Given the description of an element on the screen output the (x, y) to click on. 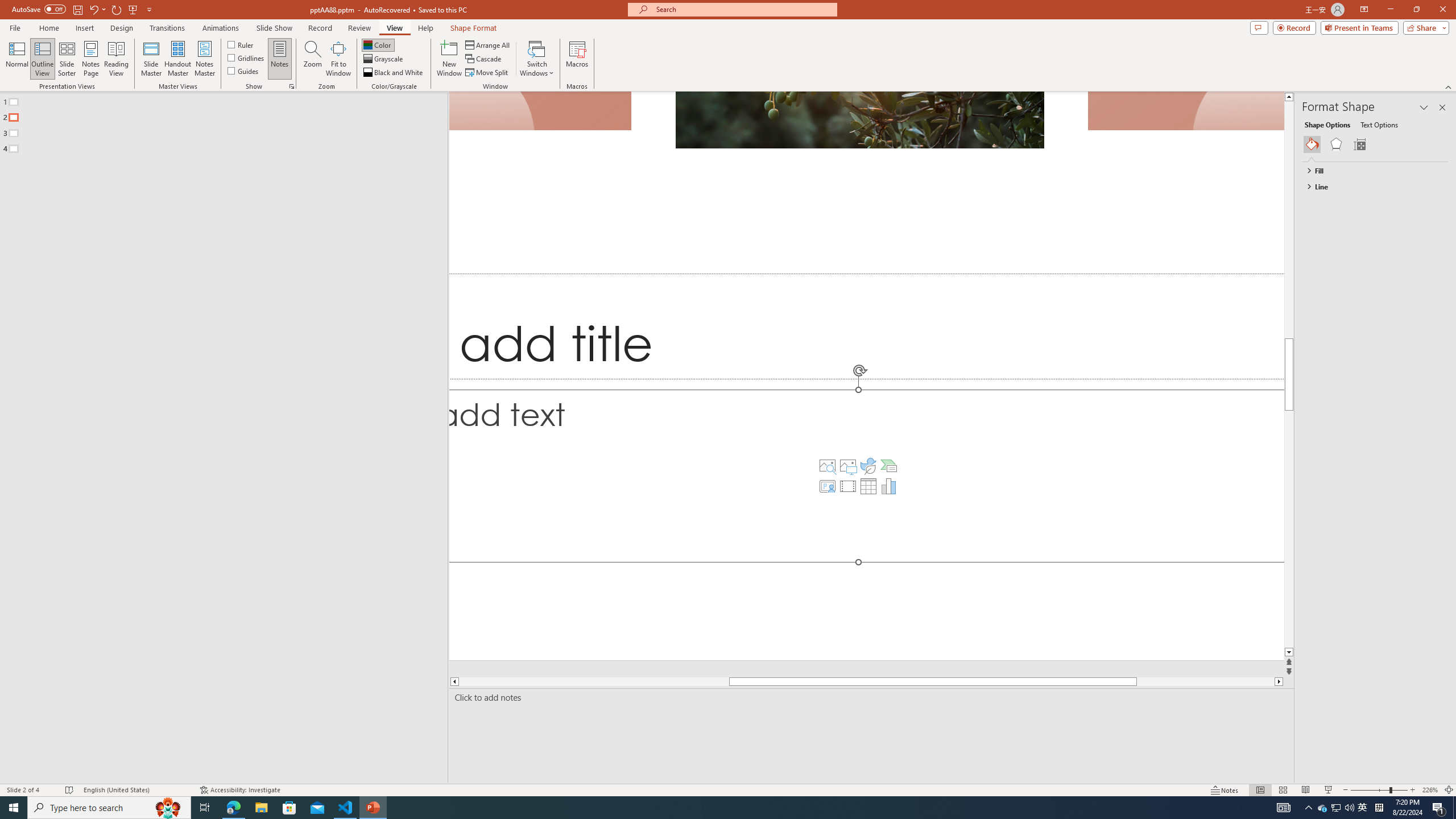
Outline View (42, 58)
Insert Video (847, 486)
Insert Cameo (827, 486)
Outline (228, 122)
Zoom... (312, 58)
Insert an Icon (868, 466)
Grid Settings... (291, 85)
